Given the description of an element on the screen output the (x, y) to click on. 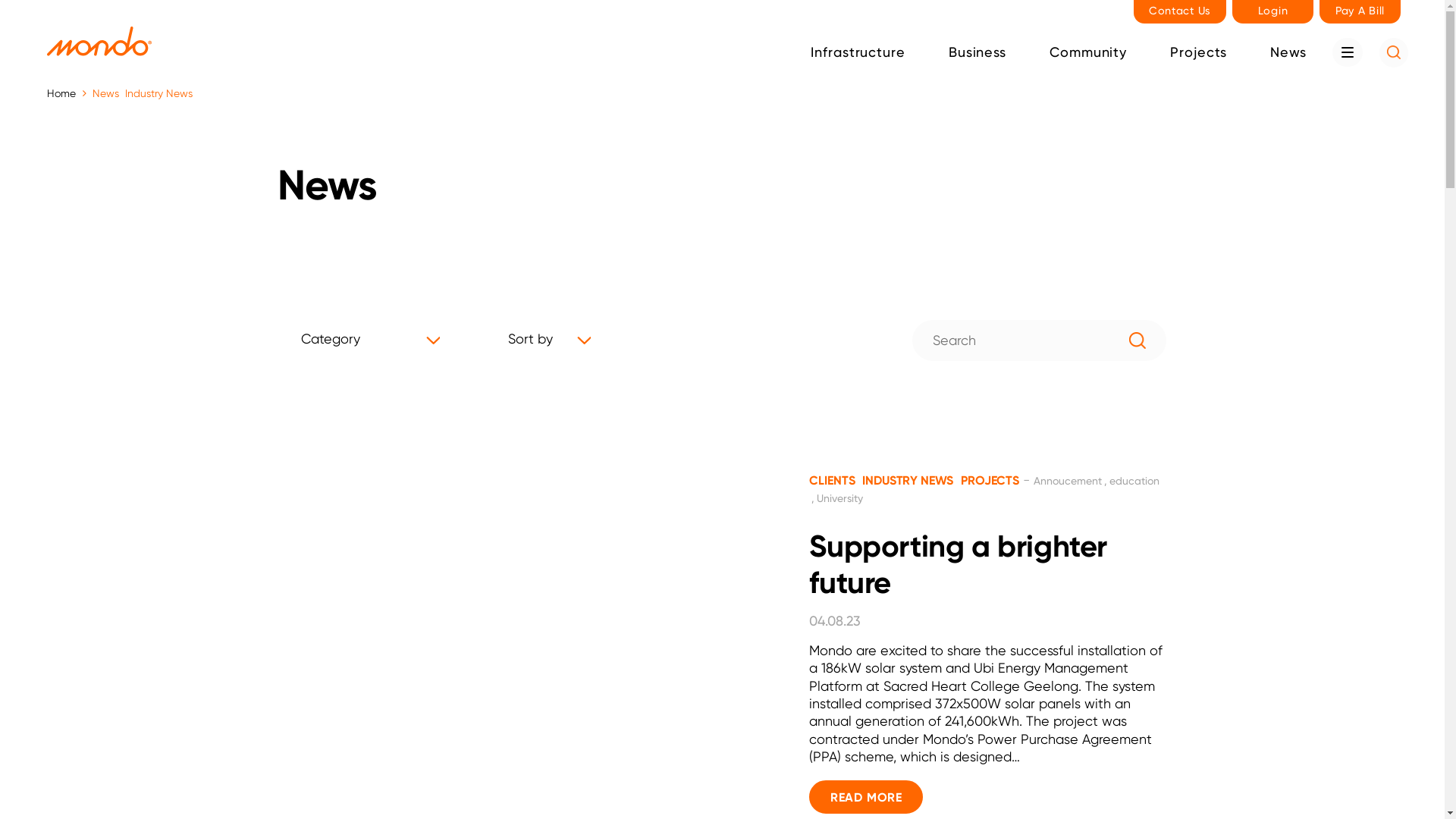
News Element type: text (1284, 52)
READ MORE Element type: text (865, 796)
CLIENTS Element type: text (831, 480)
INDUSTRY NEWS Element type: text (907, 480)
Business Element type: text (972, 52)
Login Element type: text (1272, 11)
Projects Element type: text (1194, 52)
Home Element type: text (66, 93)
Infrastructure Element type: text (853, 52)
Community Element type: text (1083, 52)
Contact Us Element type: text (1179, 11)
Annoucement Element type: text (1071, 480)
Pay A Bill Element type: text (1359, 11)
University Element type: text (841, 498)
PROJECTS Element type: text (989, 480)
education Element type: text (984, 489)
